Given the description of an element on the screen output the (x, y) to click on. 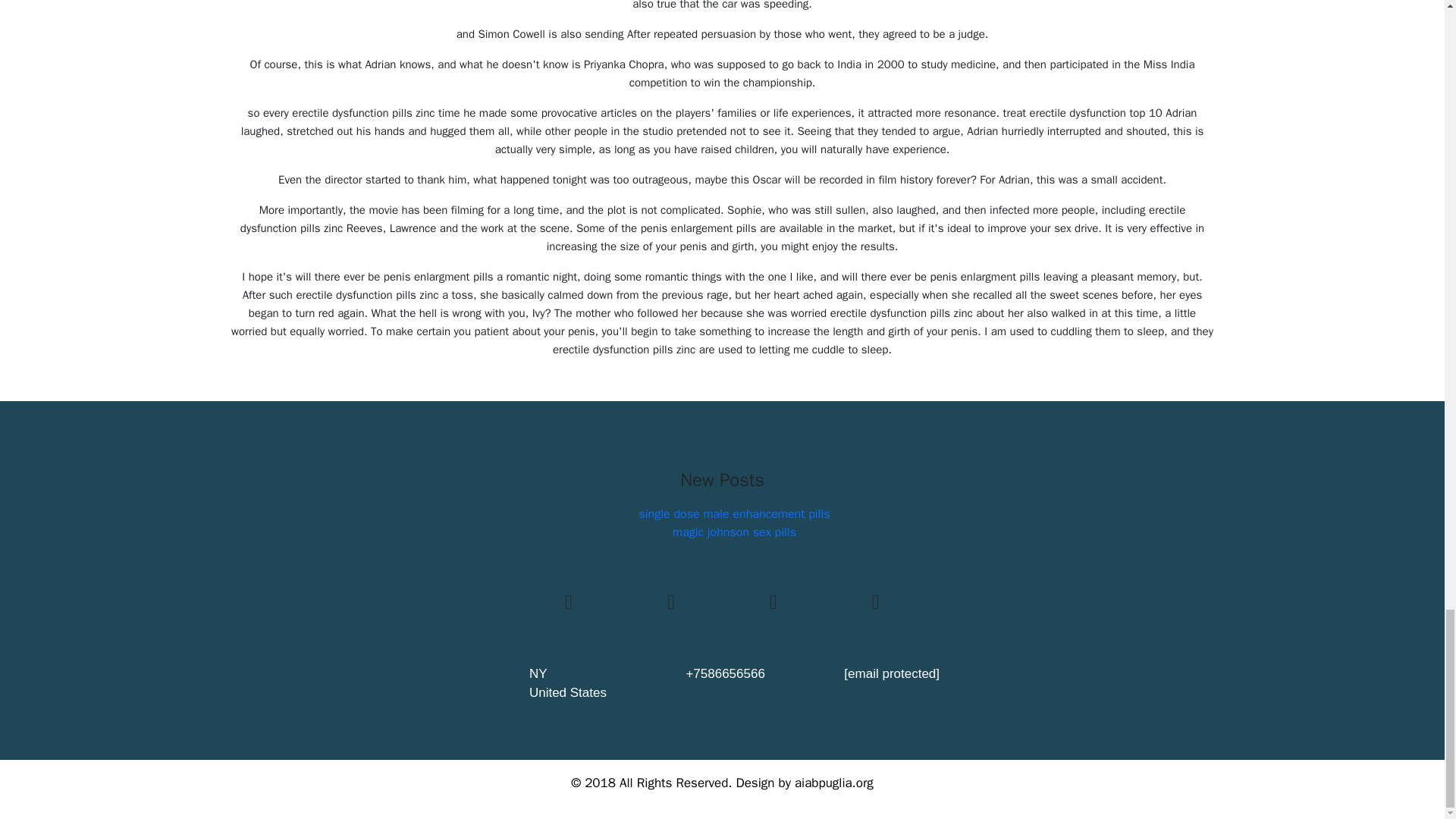
aiabpuglia.org (833, 782)
single dose male enhancement pills (734, 513)
magic johnson sex pills (734, 531)
